Given the description of an element on the screen output the (x, y) to click on. 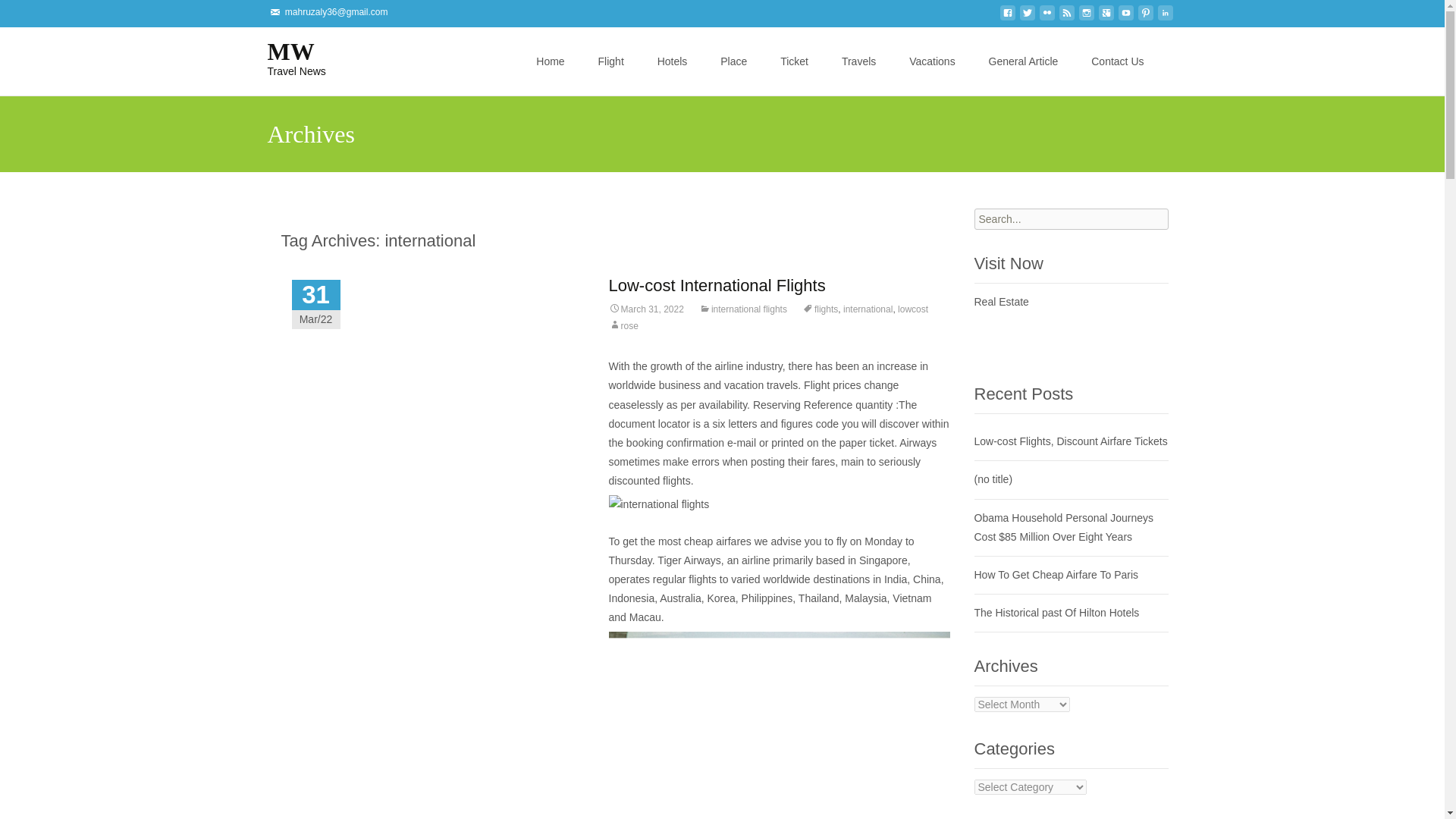
feed (1066, 17)
twitter (1026, 17)
General Article (1023, 61)
Search for: (1163, 62)
facebook (1006, 17)
linkedin (1164, 17)
MW (283, 57)
youtube (1125, 17)
instagram (1085, 17)
pinterest (1145, 17)
Permalink to Low-cost International Flights (283, 57)
googleplus (645, 308)
Skip to content (1105, 17)
View all posts by rose (556, 36)
